Given the description of an element on the screen output the (x, y) to click on. 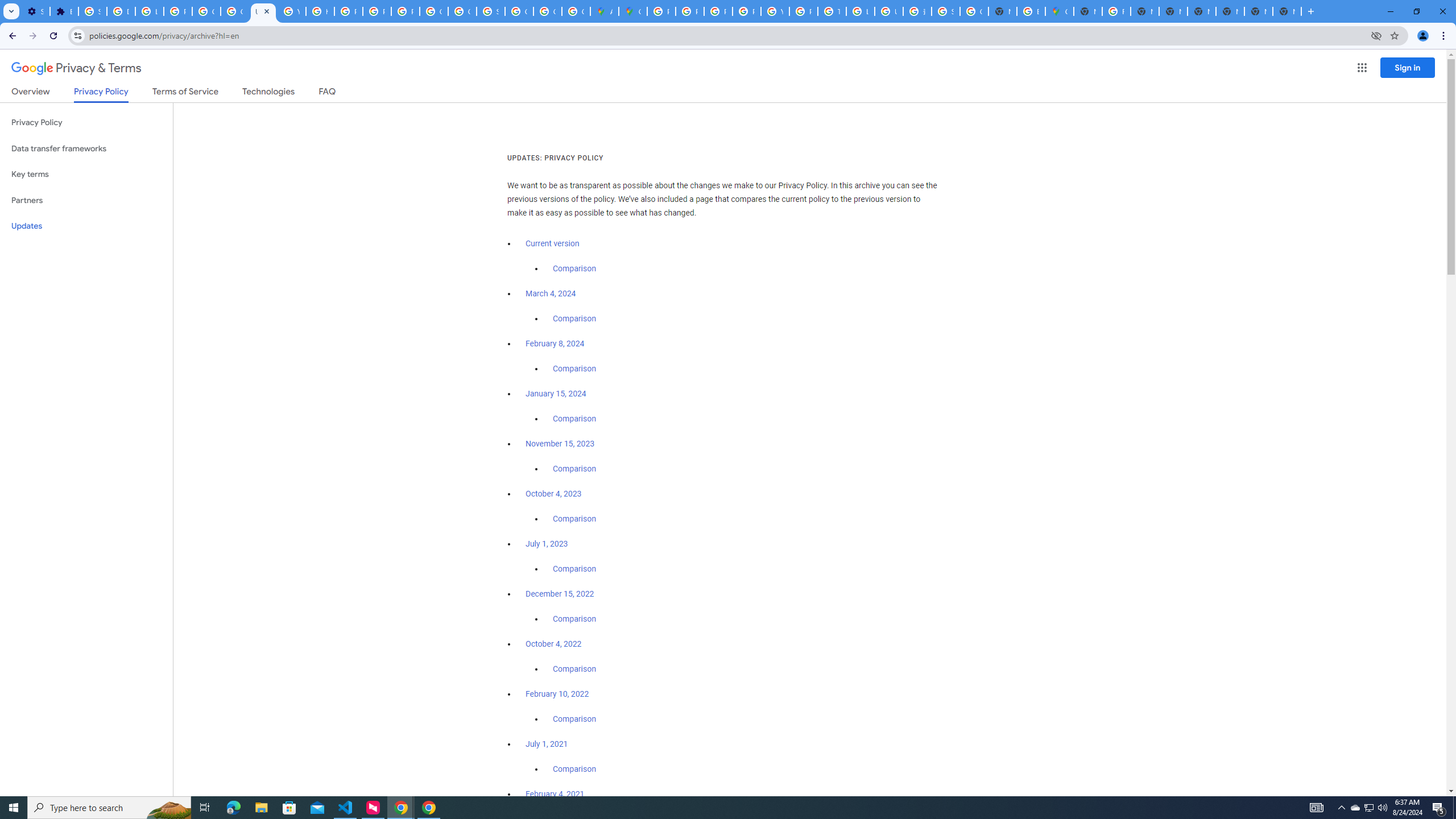
New Tab (1258, 11)
March 4, 2024 (550, 293)
Privacy Help Center - Policies Help (690, 11)
January 15, 2024 (555, 394)
Key terms (86, 174)
Google Maps (632, 11)
